Given the description of an element on the screen output the (x, y) to click on. 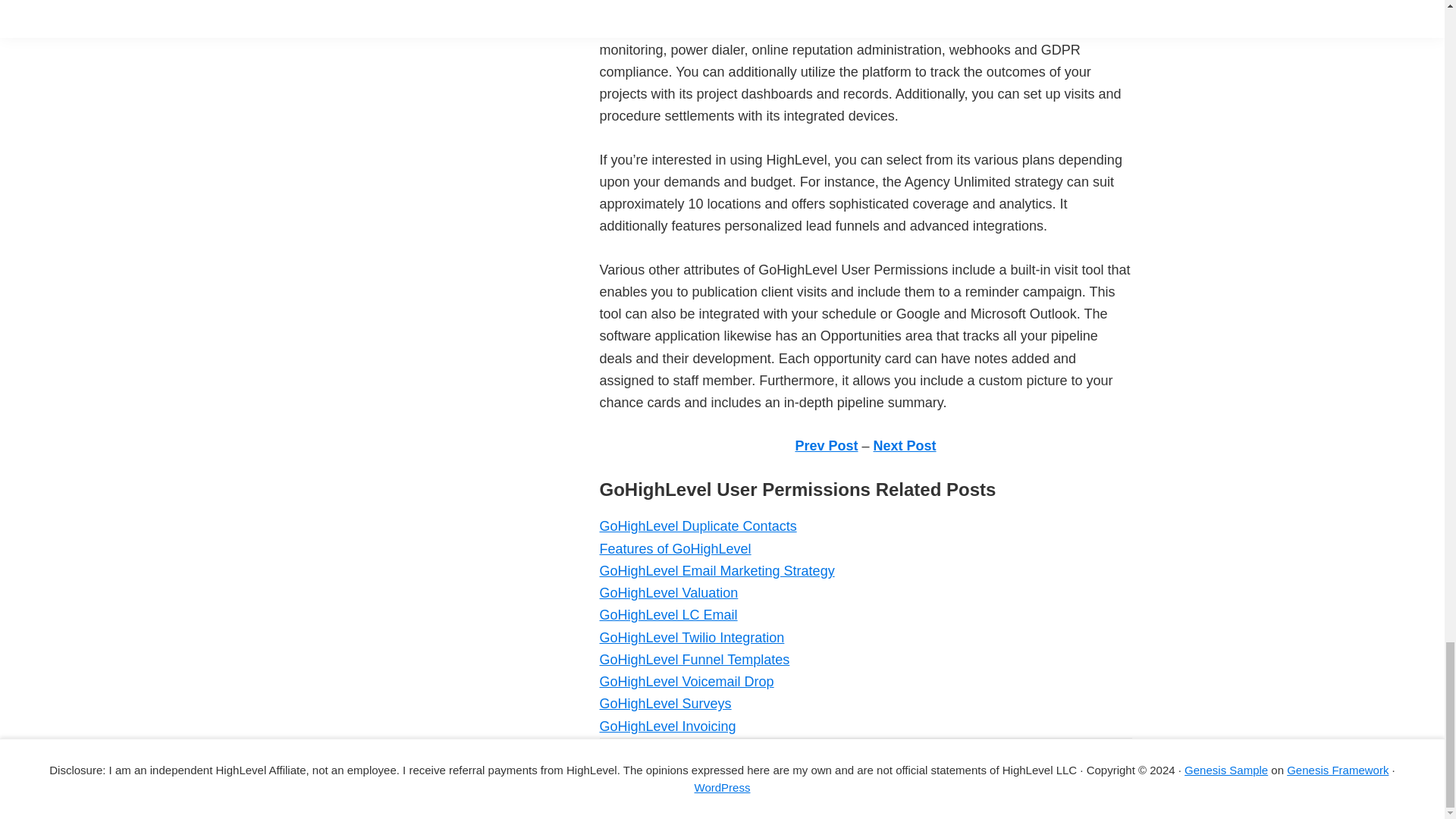
GoHighLevel Voicemail Drop (685, 681)
GoHighLevel Funnel Templates (693, 659)
GoHighLevel Invoicing (666, 726)
GoHighLevel Twilio Integration (691, 637)
Features of GoHighLevel (674, 548)
GoHighLevel Email Marketing Strategy (716, 570)
GoHighLevel Email Marketing Strategy (716, 570)
GoHighLevel Invoicing (666, 726)
GoHighLevel Twilio Integration (691, 637)
Prev Post (825, 445)
